Given the description of an element on the screen output the (x, y) to click on. 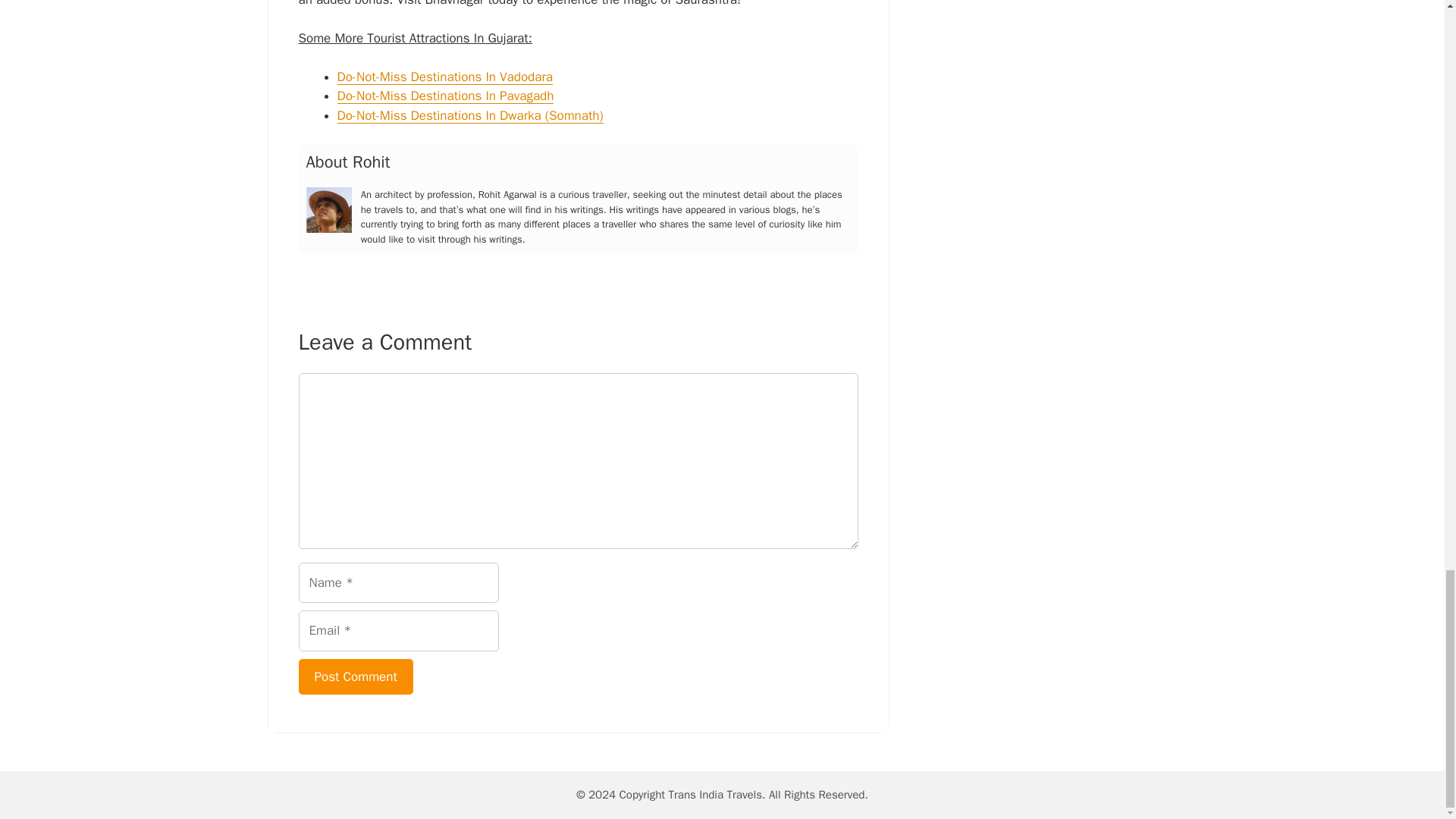
Post Comment (355, 677)
